Given the description of an element on the screen output the (x, y) to click on. 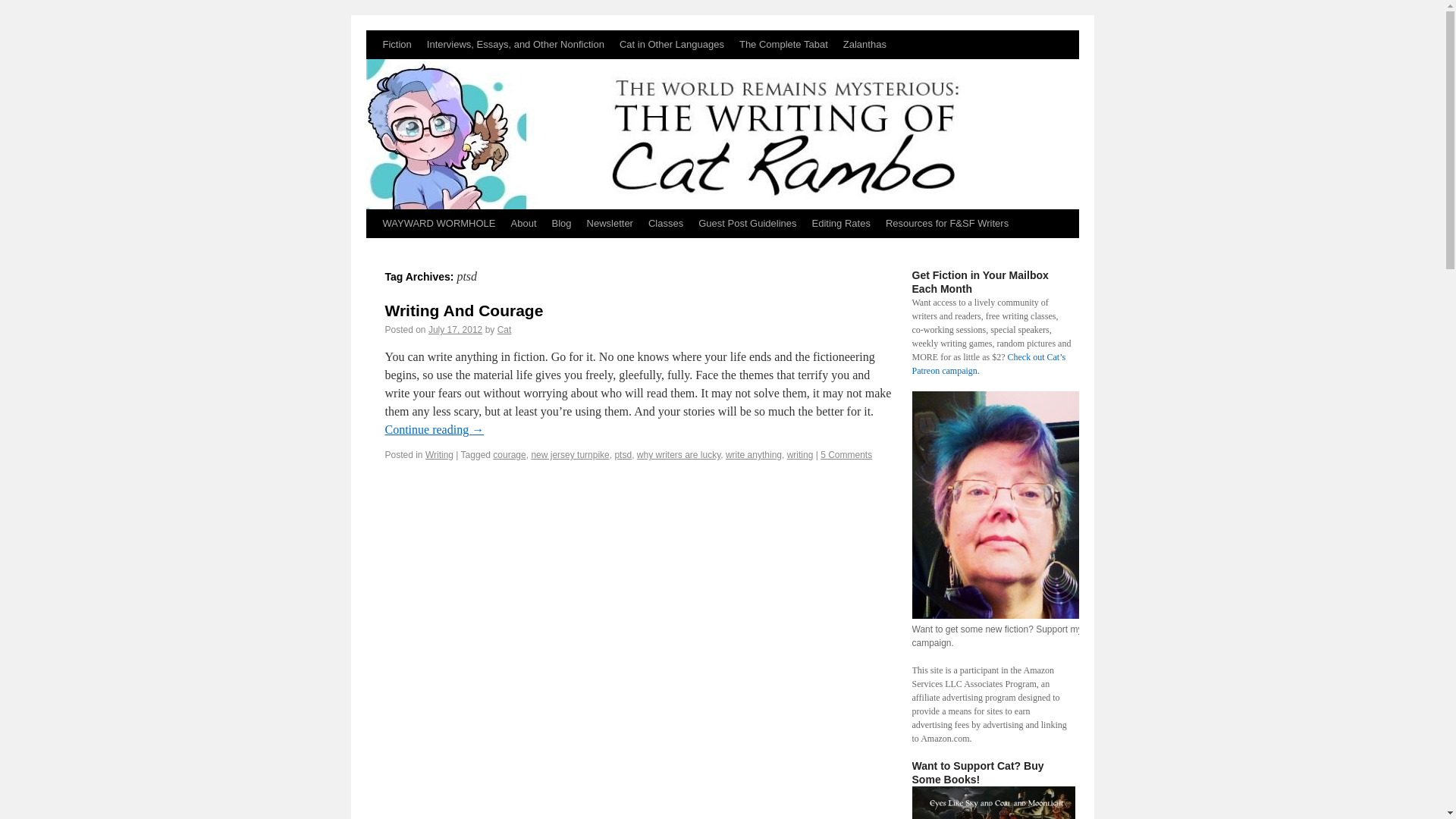
Classes (665, 223)
Editing Rates (841, 223)
WAYWARD WORMHOLE (438, 223)
Writing (438, 454)
In Translation (671, 44)
July 17, 2012 (454, 329)
write anything (753, 454)
1:34 pm (454, 329)
Permalink to Writing And Courage (464, 310)
Cat (504, 329)
